Given the description of an element on the screen output the (x, y) to click on. 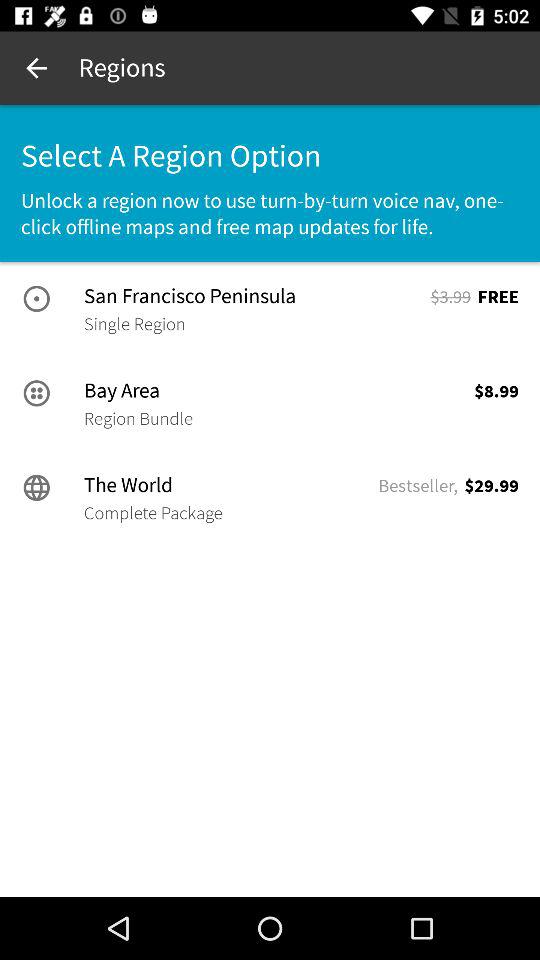
tap item to the left of the regions item (36, 68)
